Given the description of an element on the screen output the (x, y) to click on. 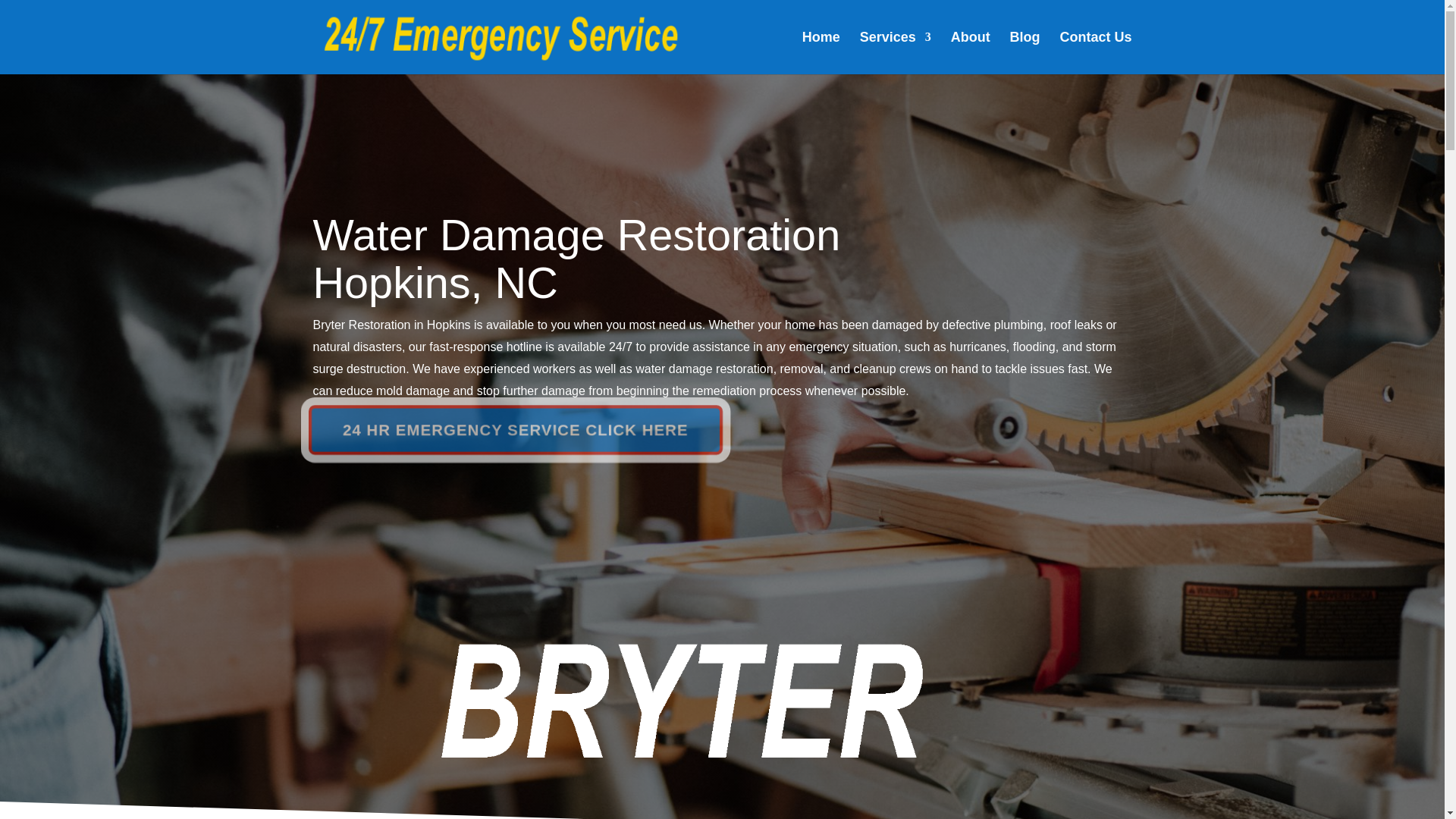
Services (895, 52)
About (970, 52)
Contact Us (1095, 52)
Home (821, 52)
